Given the description of an element on the screen output the (x, y) to click on. 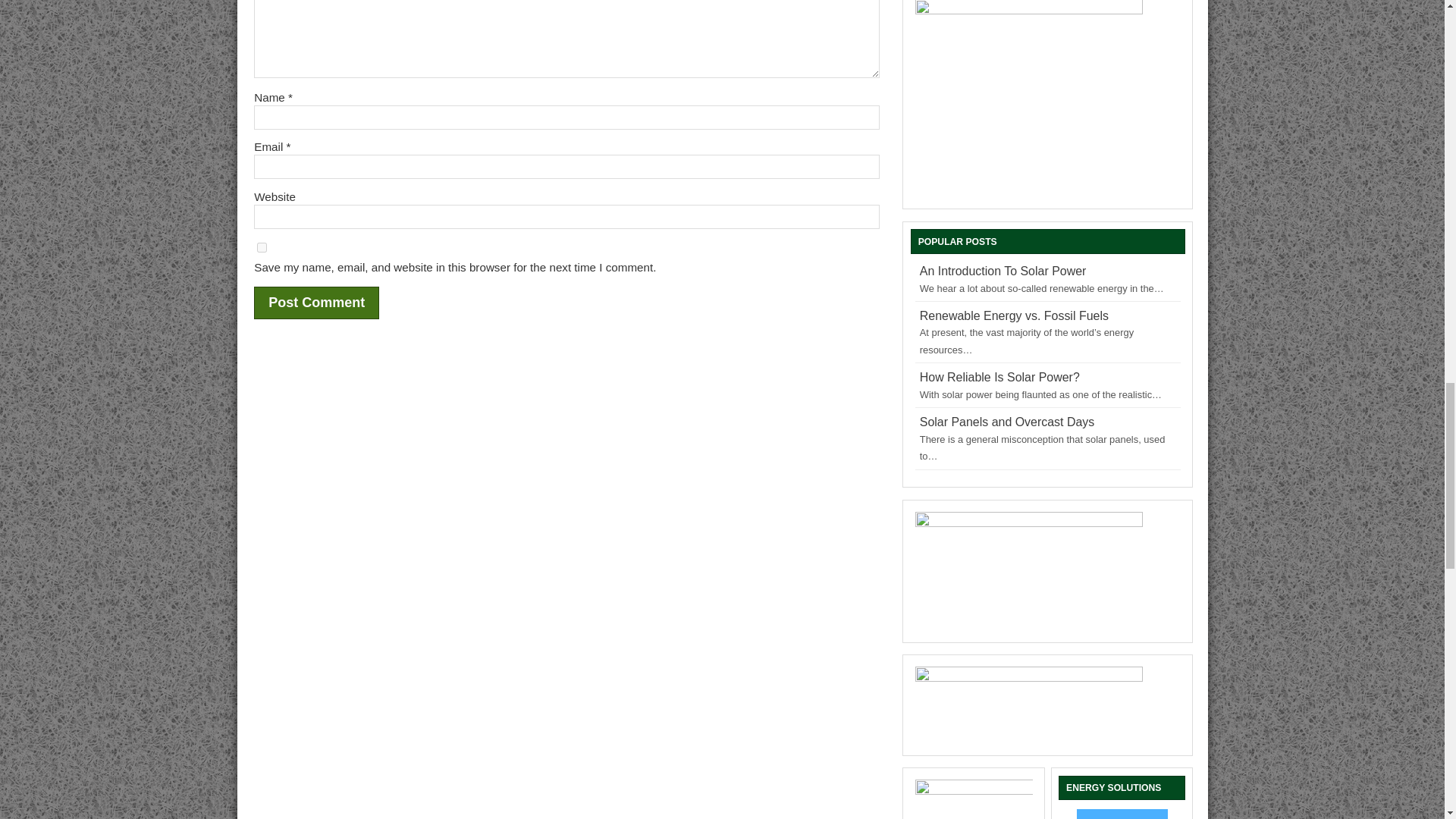
Post Comment (315, 302)
yes (261, 247)
Post Comment (315, 302)
